Given the description of an element on the screen output the (x, y) to click on. 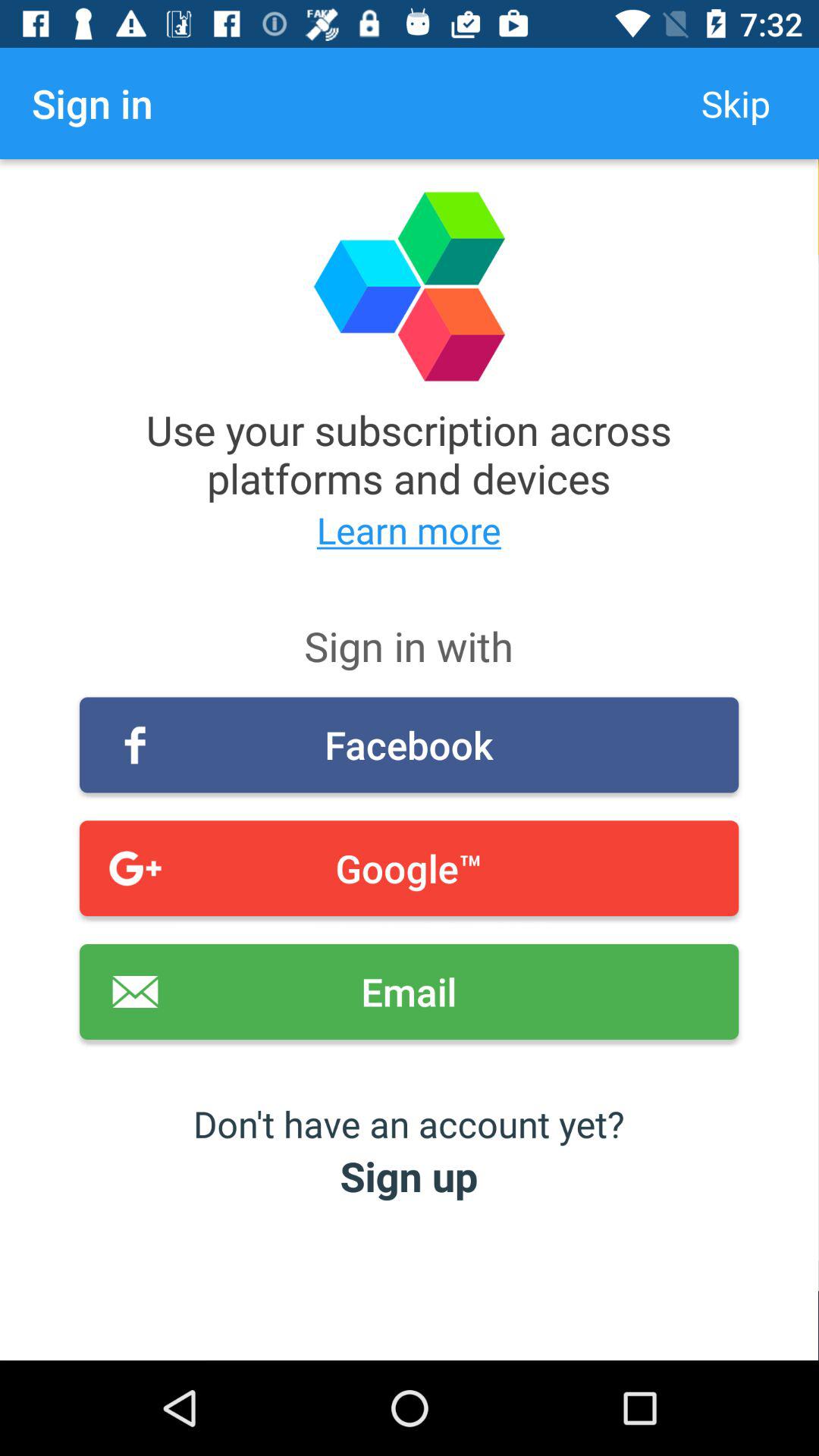
flip to the email icon (408, 991)
